Given the description of an element on the screen output the (x, y) to click on. 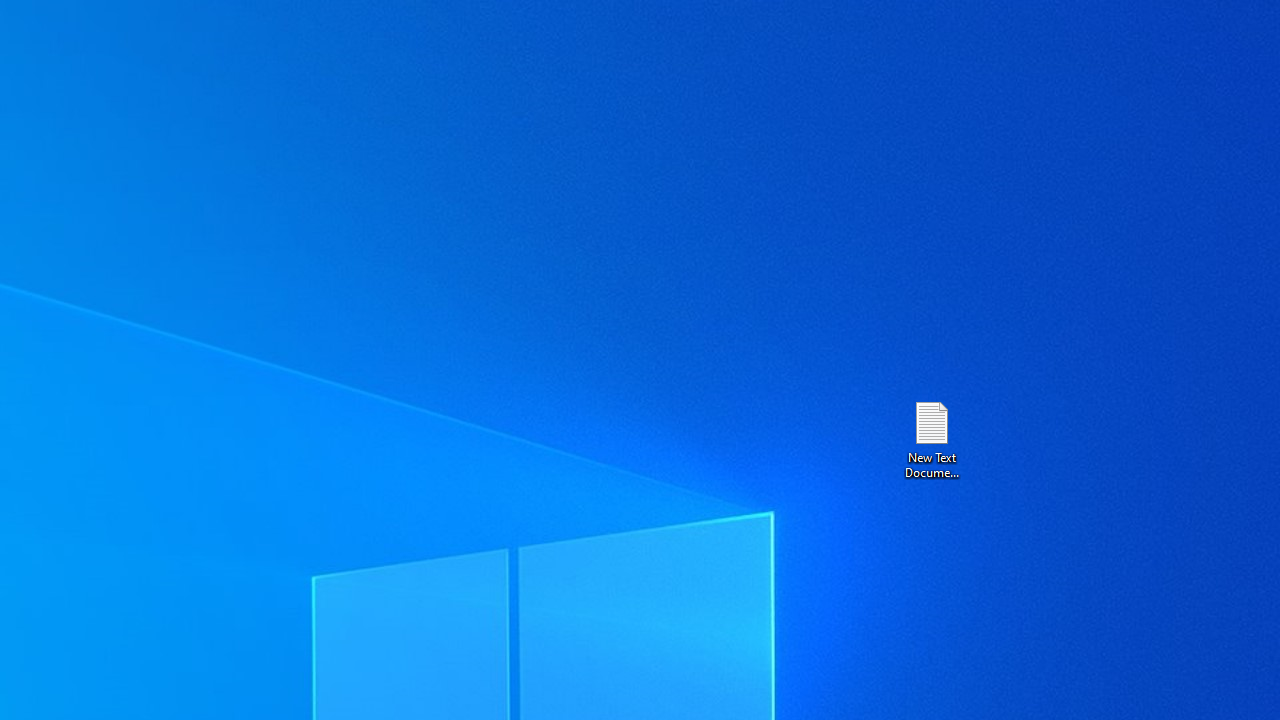
New Text Document (2) (931, 438)
